Given the description of an element on the screen output the (x, y) to click on. 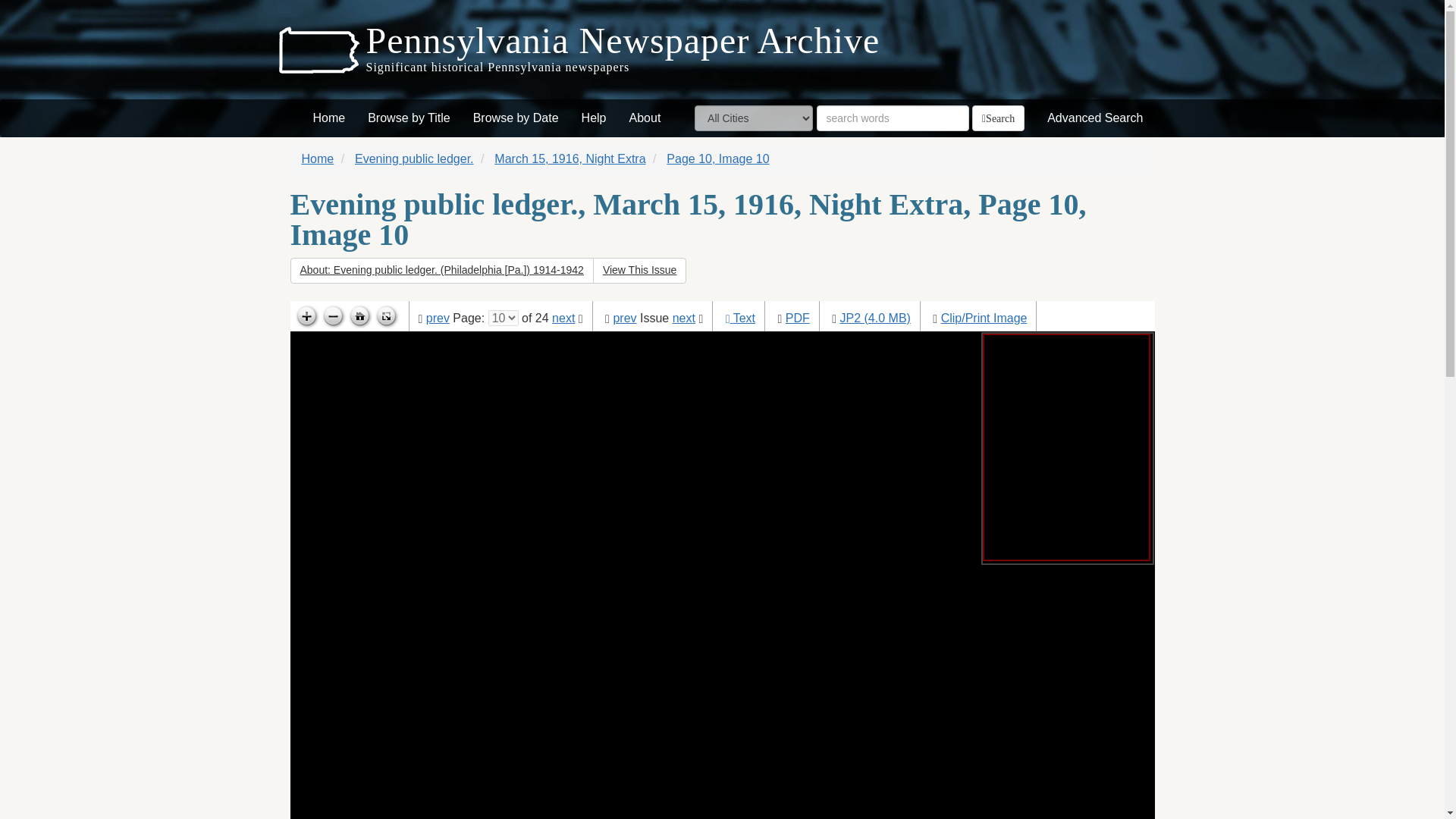
Text (744, 318)
Evening public ledger. (414, 158)
PDF (797, 318)
Page 10, Image 10 (717, 158)
next (683, 318)
Zoom in (305, 316)
prev (624, 318)
Advanced Search (1094, 118)
March 15, 1916, Night Extra (570, 158)
Home (317, 158)
Go home (359, 316)
Browse by Title (408, 118)
Browse by Date (515, 118)
Search (998, 118)
prev (437, 318)
